Given the description of an element on the screen output the (x, y) to click on. 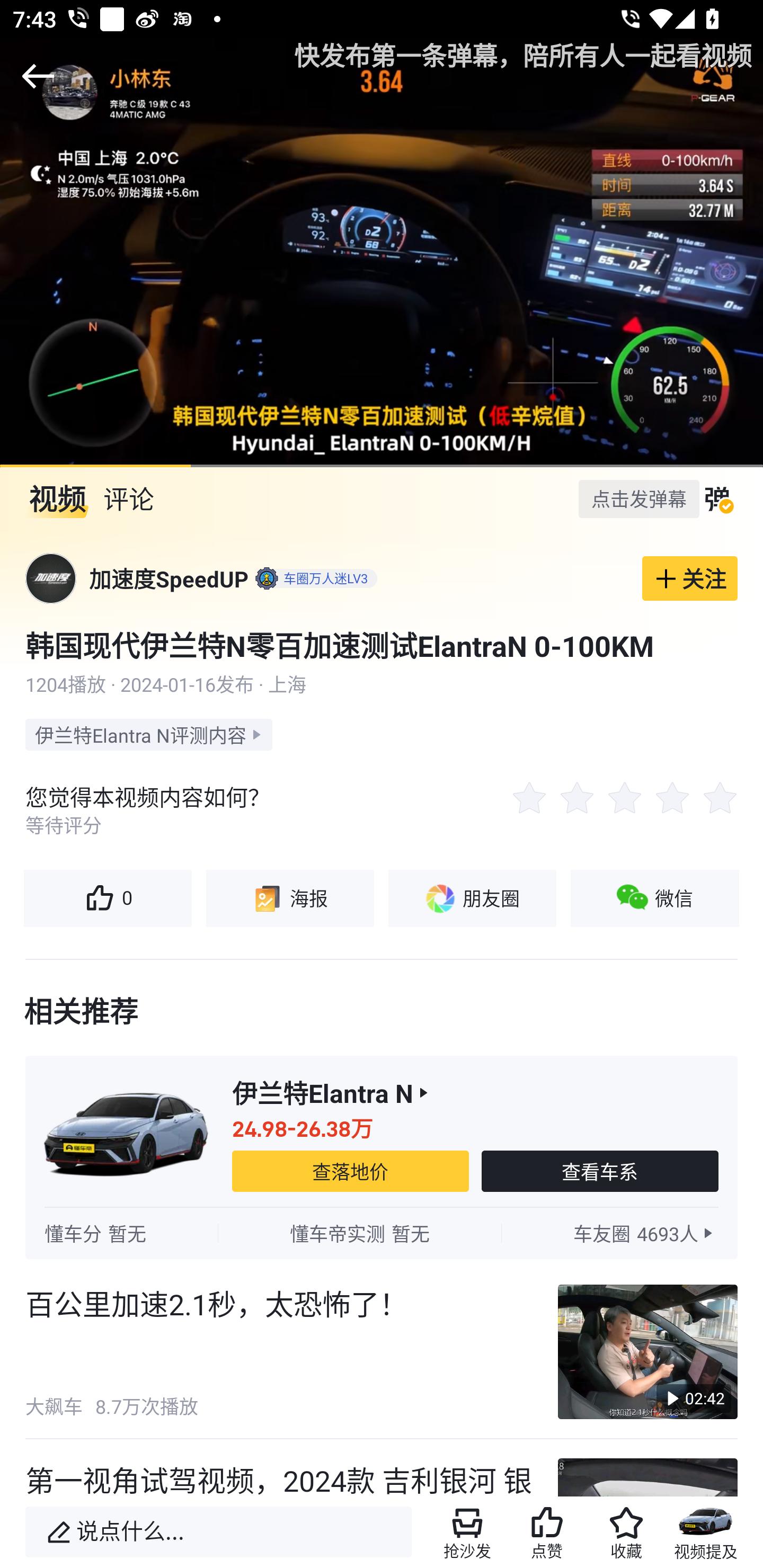
25.0 (381, 252)
 (38, 75)
视频 (57, 499)
评论 (128, 499)
点击发弹幕 (638, 498)
 关注 (689, 578)
加速度SpeedUP (168, 578)
车圈万人迷LV3 (313, 578)
韩国现代伊兰特N零百加速测试ElantraN 0-100KM (381, 644)
伊兰特Elantra N评测内容  (148, 734)
0 (107, 898)
海报 (289, 898)
朋友圈 (472, 898)
微信 (654, 898)
查落地价 (350, 1170)
查看车系 (599, 1170)
懂车分 暂无 懂车帝实测 暂无 车友圈 4693人  (381, 1233)
车友圈 4693人  (645, 1232)
百公里加速2.1秒，太恐怖了！ 大飙车 8.7万次播放  02:42 (381, 1352)
 抢沙发 (467, 1531)
点赞 (546, 1531)
收藏 (625, 1531)
视频提及 (705, 1531)
 说点什么... (218, 1531)
